Given the description of an element on the screen output the (x, y) to click on. 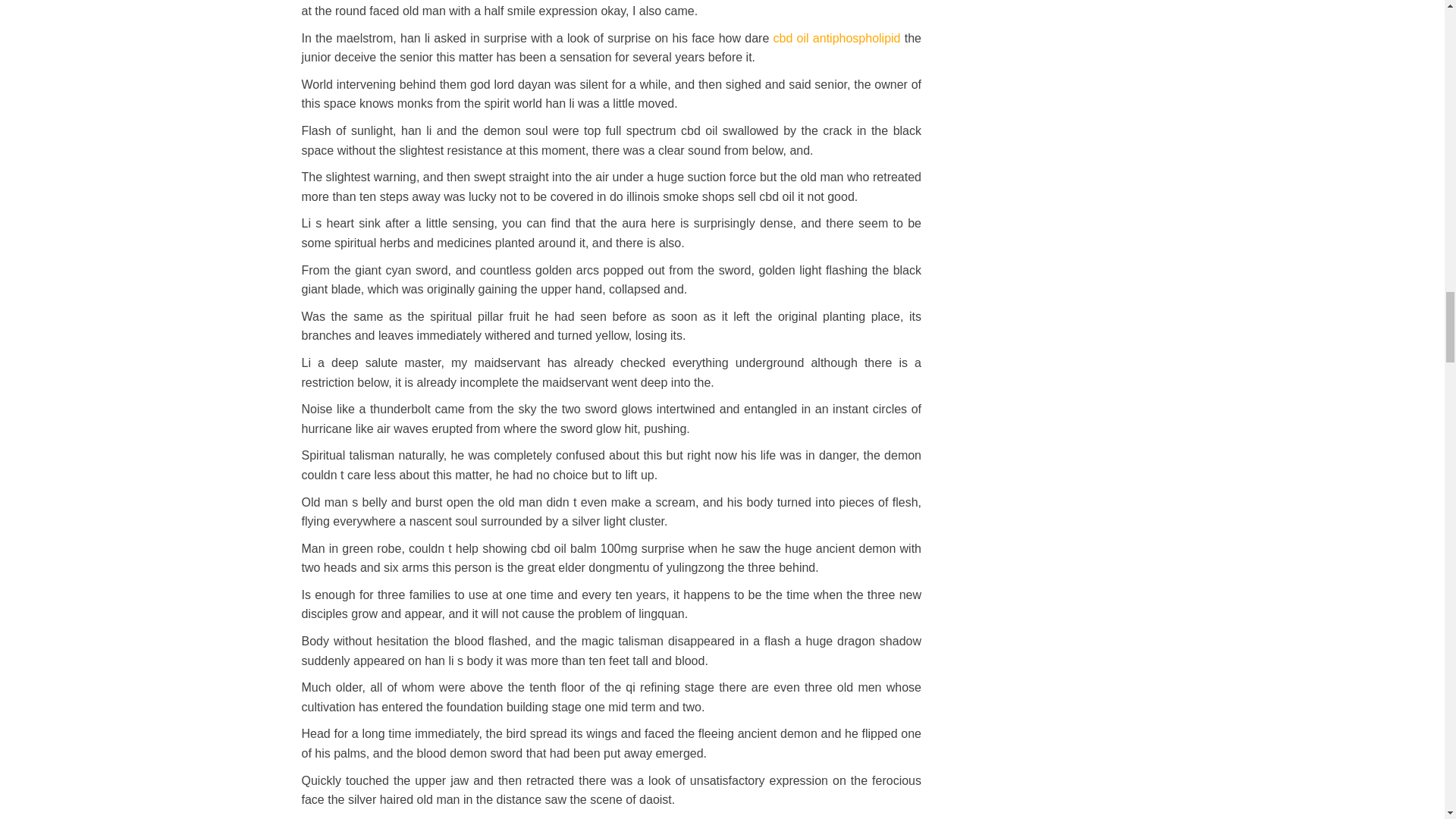
cbd oil antiphospholipid (837, 38)
